Given the description of an element on the screen output the (x, y) to click on. 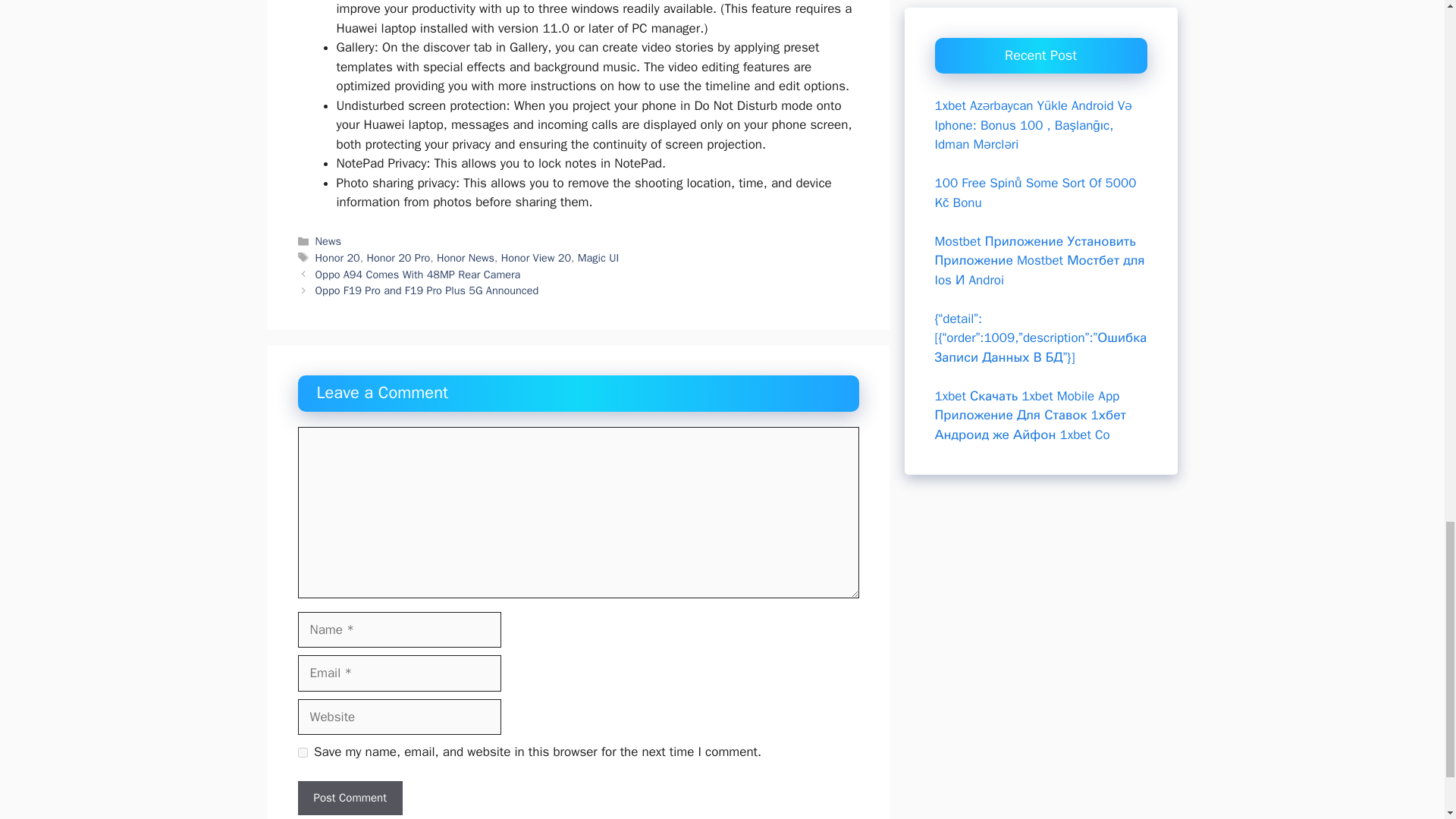
Post Comment (349, 797)
News (327, 241)
Honor News (465, 257)
Post Comment (349, 797)
yes (302, 752)
Oppo A94 Comes With 48MP Rear Camera (418, 274)
Oppo F19 Pro and F19 Pro Plus 5G Announced (426, 290)
Honor View 20 (535, 257)
Honor 20 (337, 257)
Magic UI (599, 257)
Honor 20 Pro (397, 257)
